Given the description of an element on the screen output the (x, y) to click on. 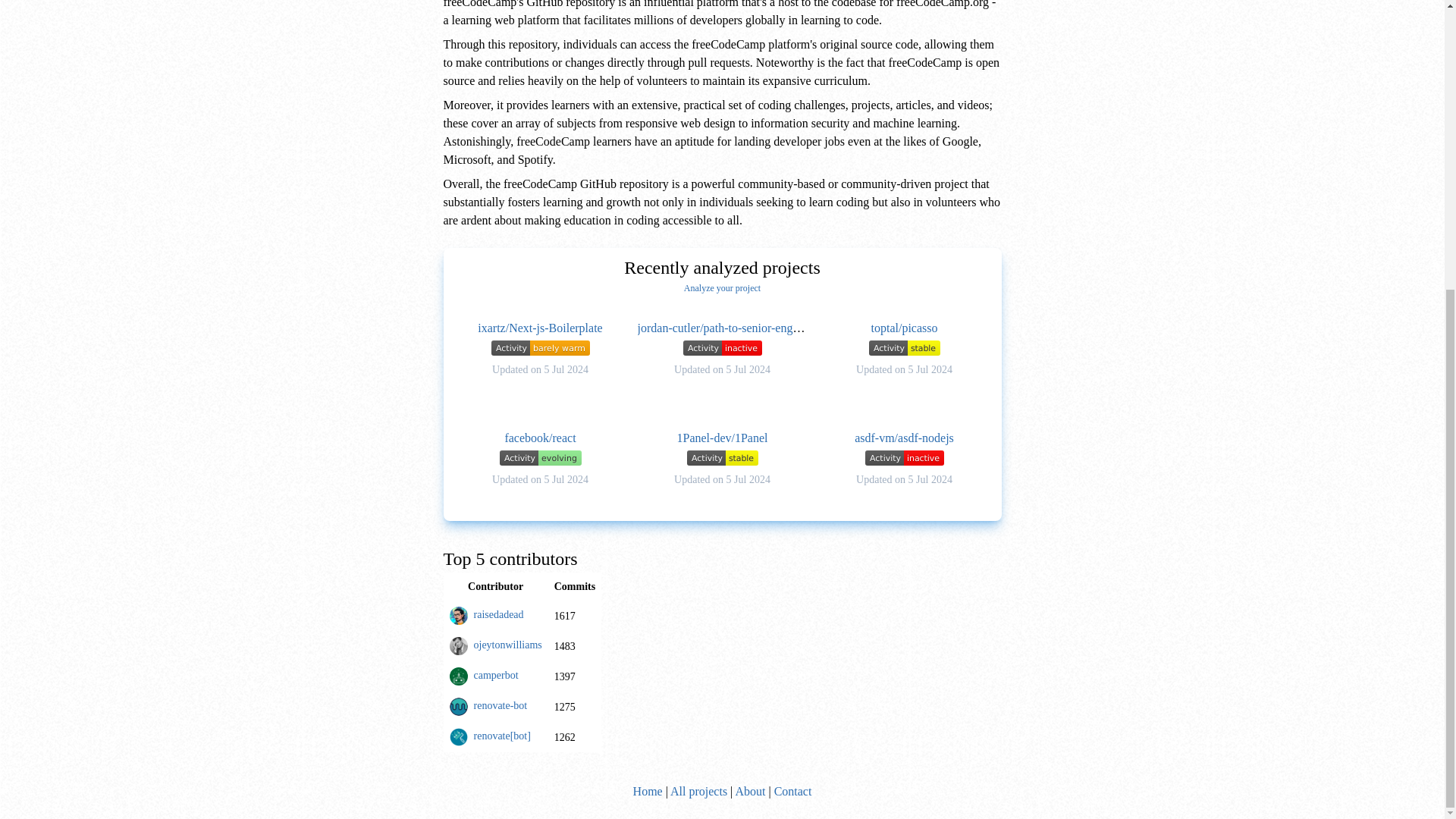
Home (647, 790)
All projects (697, 790)
renovate-bot (500, 705)
About (750, 790)
Analyze your project (722, 287)
camperbot (495, 674)
Contact (793, 790)
Analyze your project (722, 287)
ojeytonwilliams (507, 644)
raisedadead (497, 614)
